Given the description of an element on the screen output the (x, y) to click on. 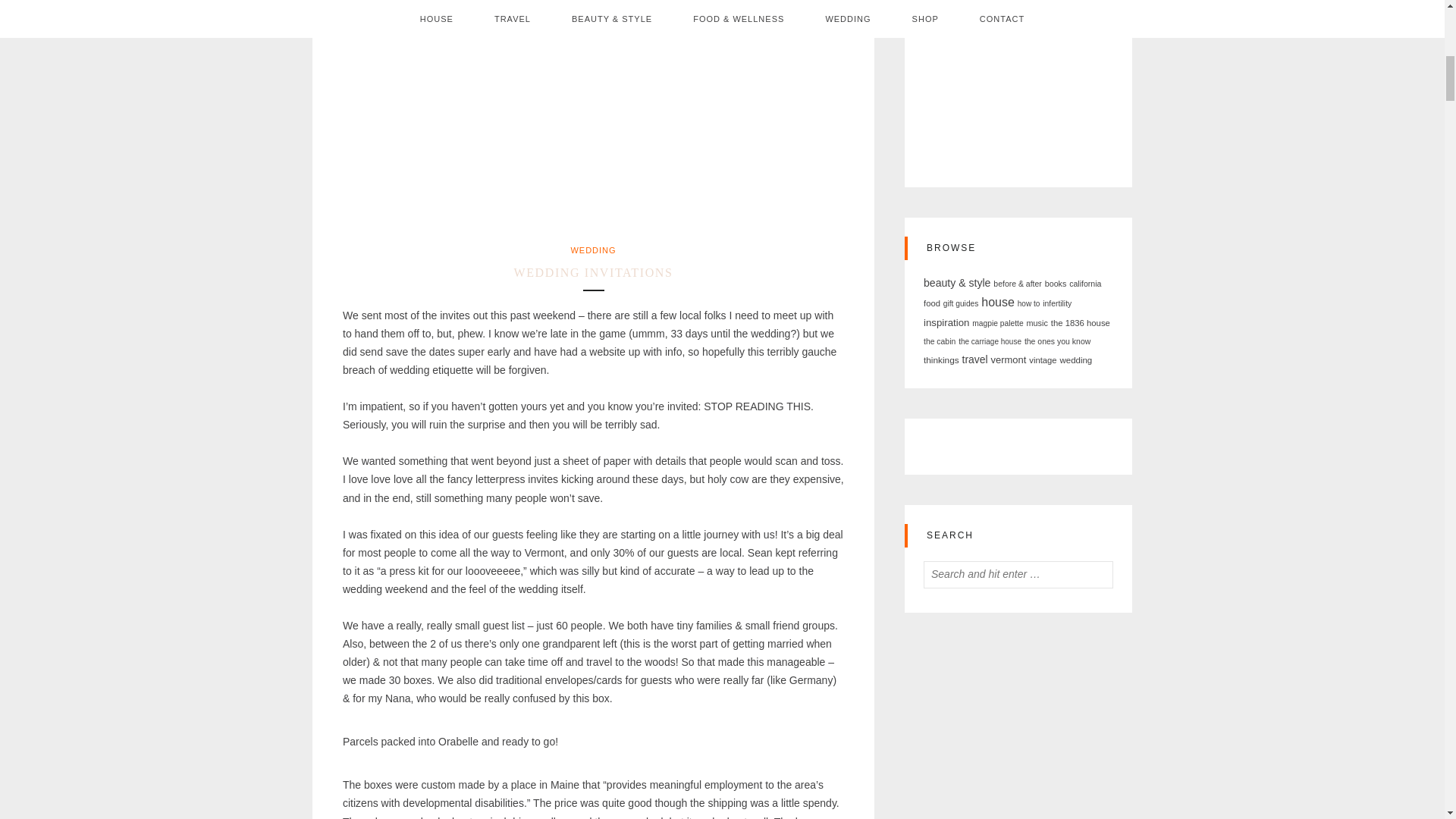
WEDDING (592, 249)
